Given the description of an element on the screen output the (x, y) to click on. 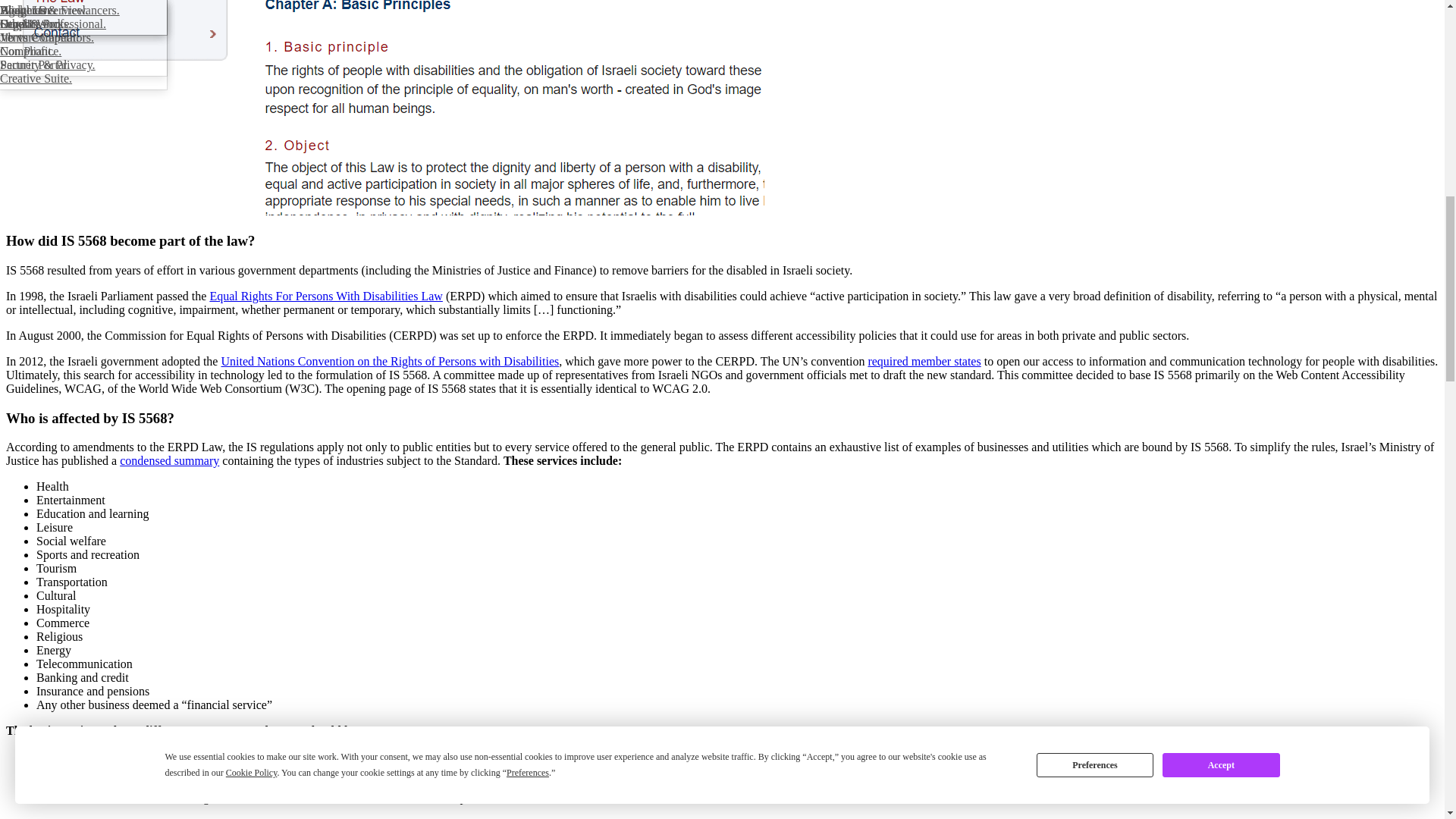
Our Mission. (83, 24)
Creative Suite. (83, 78)
Jib vs Competitors. (83, 38)
Compliance. (83, 51)
About Us. (83, 10)
